Given the description of an element on the screen output the (x, y) to click on. 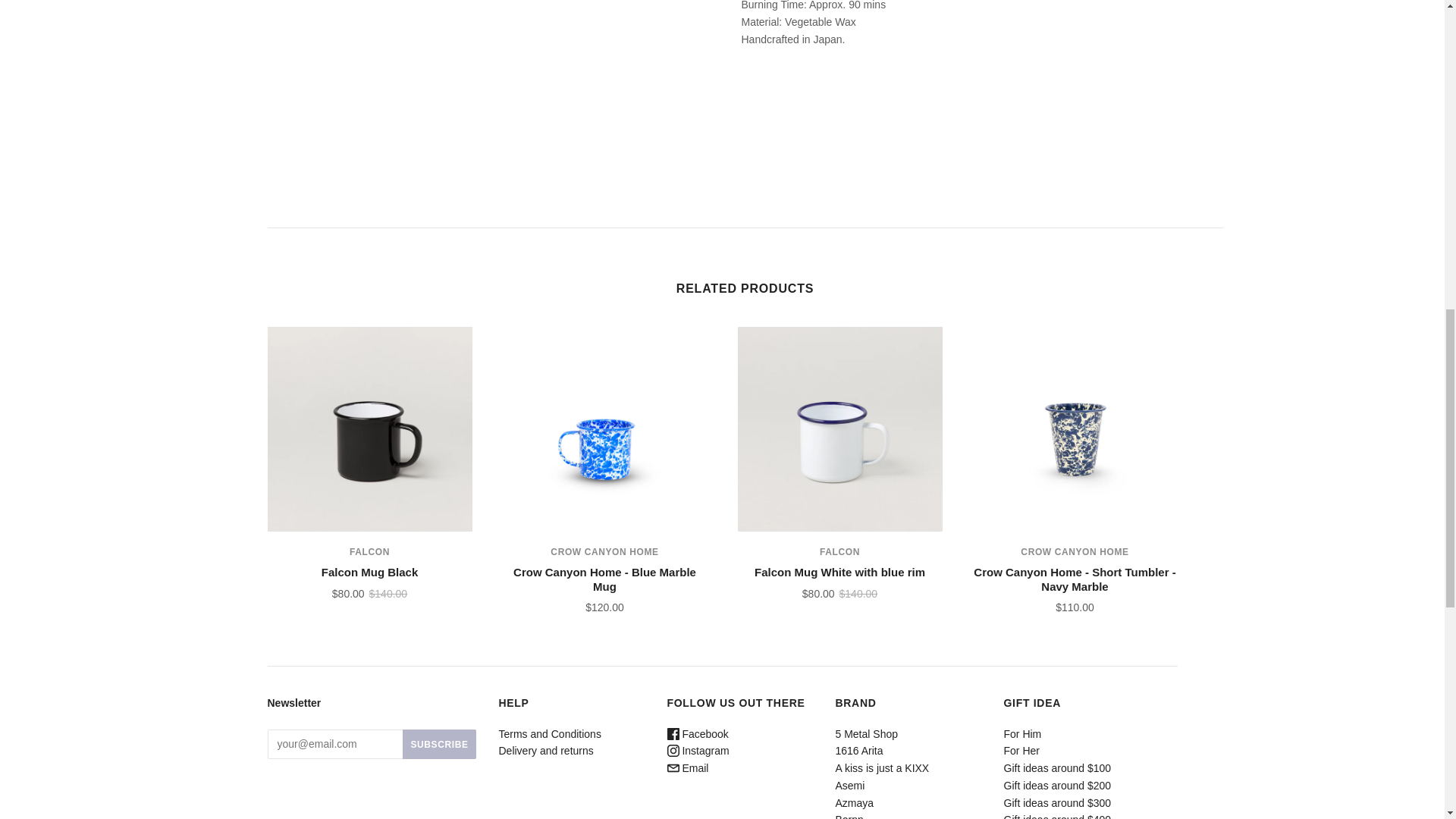
Falcon (839, 552)
Facebook (697, 734)
Falcon (369, 552)
Crow Canyon Home (604, 552)
Subscribe (439, 744)
Email (687, 767)
Crow Canyon Home (1074, 552)
Instagram (697, 750)
